Given the description of an element on the screen output the (x, y) to click on. 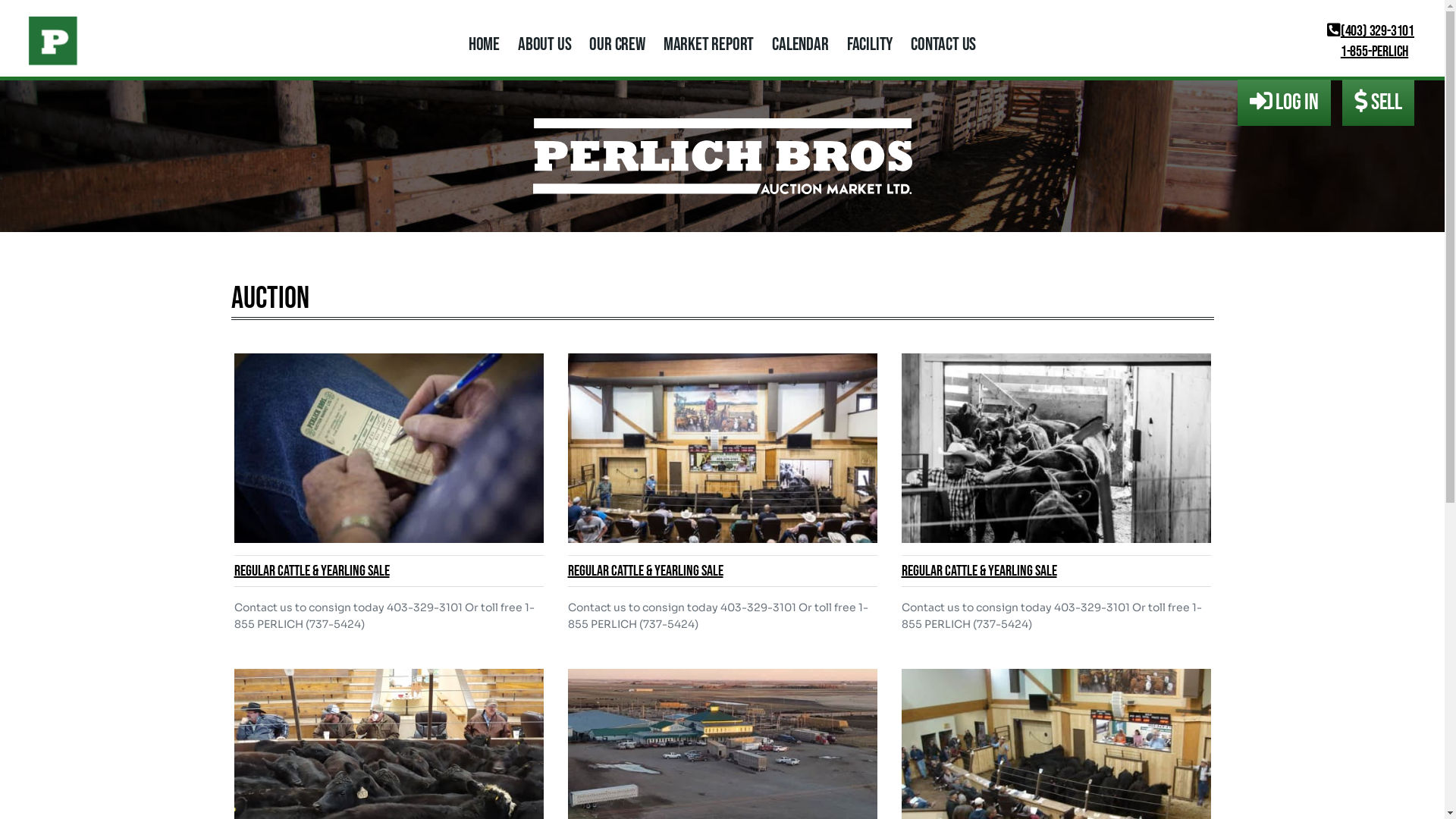
LOG IN Element type: text (1283, 102)
REGULAR CATTLE & YEARLING SALE Element type: text (1055, 570)
MARKET REPORT Element type: text (708, 44)
ABOUT US Element type: text (544, 44)
FACILITY Element type: text (869, 44)
SELL Element type: text (1378, 102)
REGULAR CATTLE & YEARLING SALE Element type: text (387, 570)
(403) 329-3101 Element type: text (1370, 30)
CALENDAR Element type: text (799, 44)
REGULAR CATTLE & YEARLING SALE Element type: text (721, 570)
HOME Element type: text (483, 44)
1-855-PERLICH Element type: text (1367, 51)
CONTACT US Element type: text (943, 44)
OUR CREW Element type: text (616, 44)
